Given the description of an element on the screen output the (x, y) to click on. 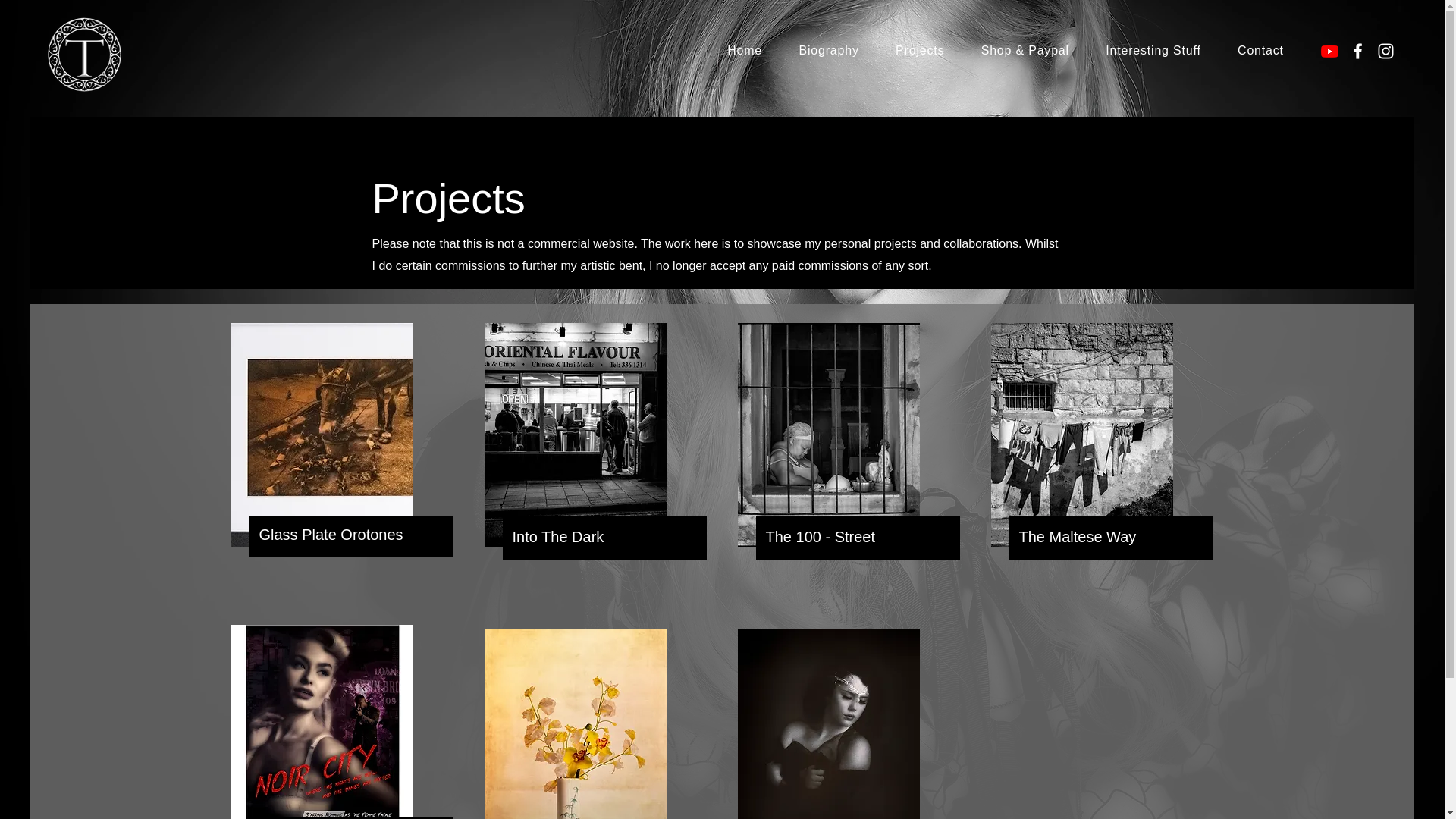
Home (744, 50)
Monogram T White logo only.png (84, 55)
Projects (919, 50)
Interesting Stuff (1152, 50)
Contact (1260, 50)
Biography (829, 50)
